Given the description of an element on the screen output the (x, y) to click on. 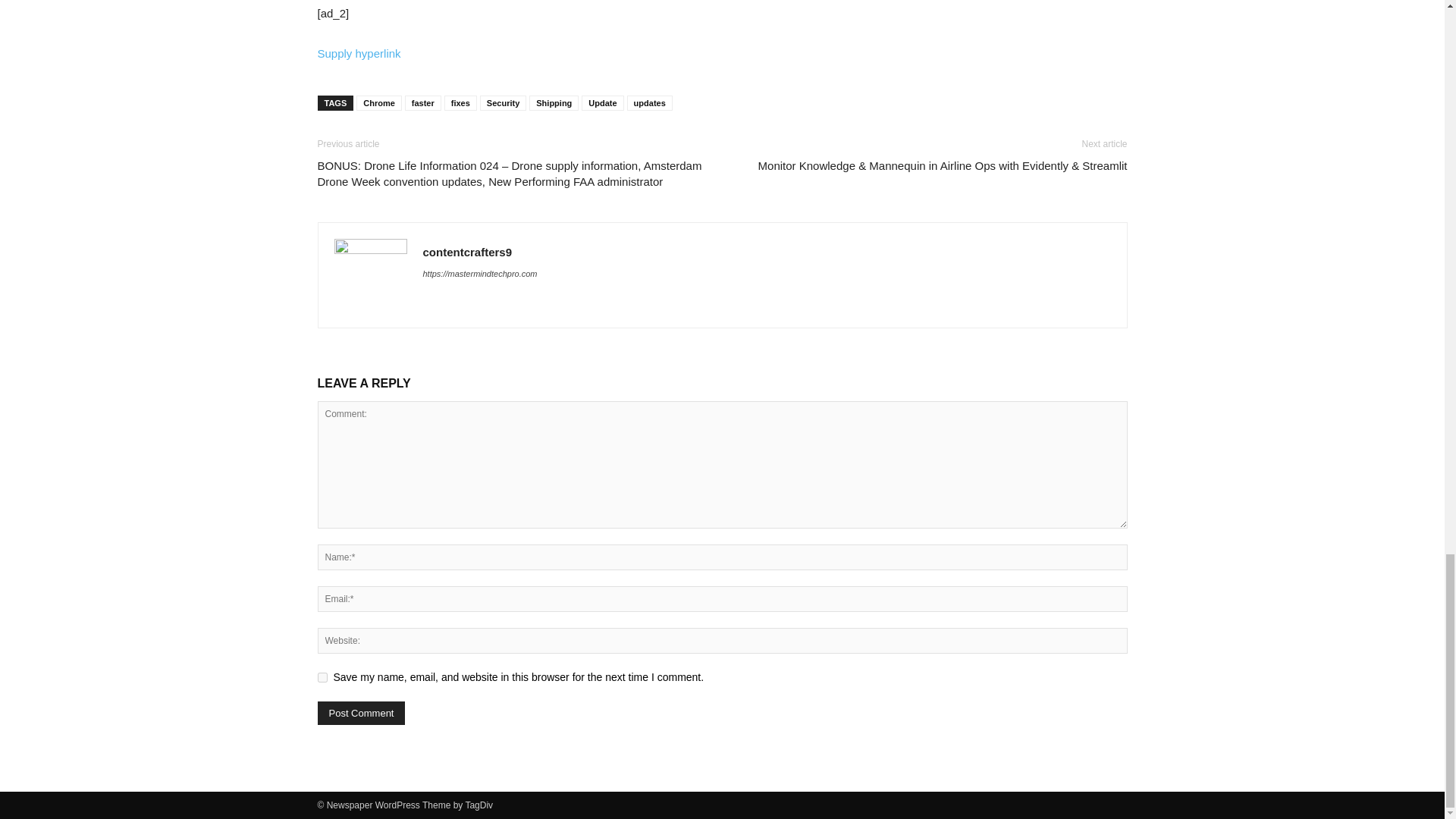
contentcrafters9 (467, 251)
Security (502, 102)
Chrome (378, 102)
Post Comment (360, 712)
Supply hyperlink (358, 51)
faster (422, 102)
Shipping (553, 102)
updates (649, 102)
yes (321, 677)
fixes (460, 102)
